Given the description of an element on the screen output the (x, y) to click on. 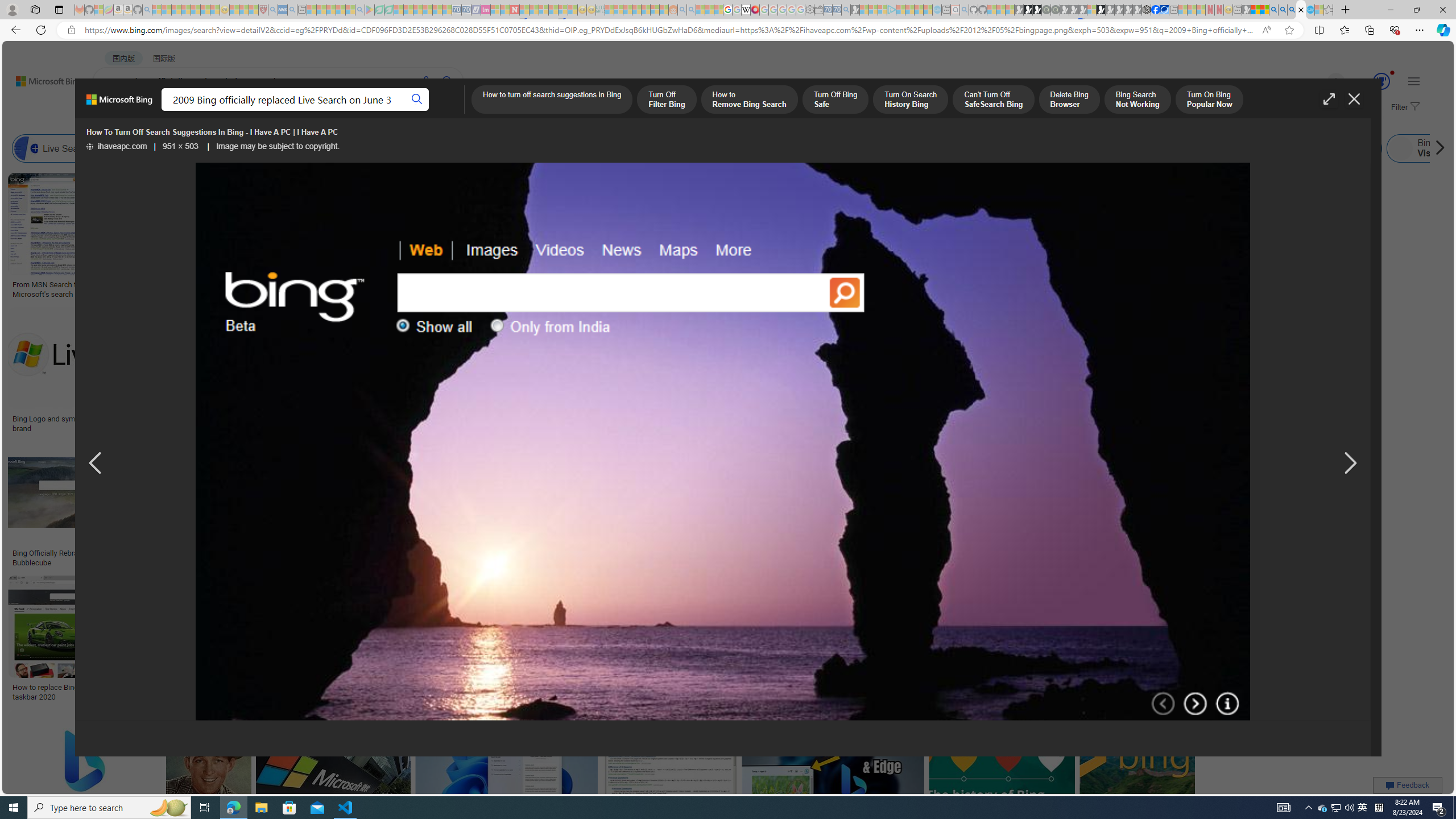
Bing - SEOLend (278, 552)
Animation (1392, 72)
Nordace - Cooler Bags (1146, 9)
